Given the description of an element on the screen output the (x, y) to click on. 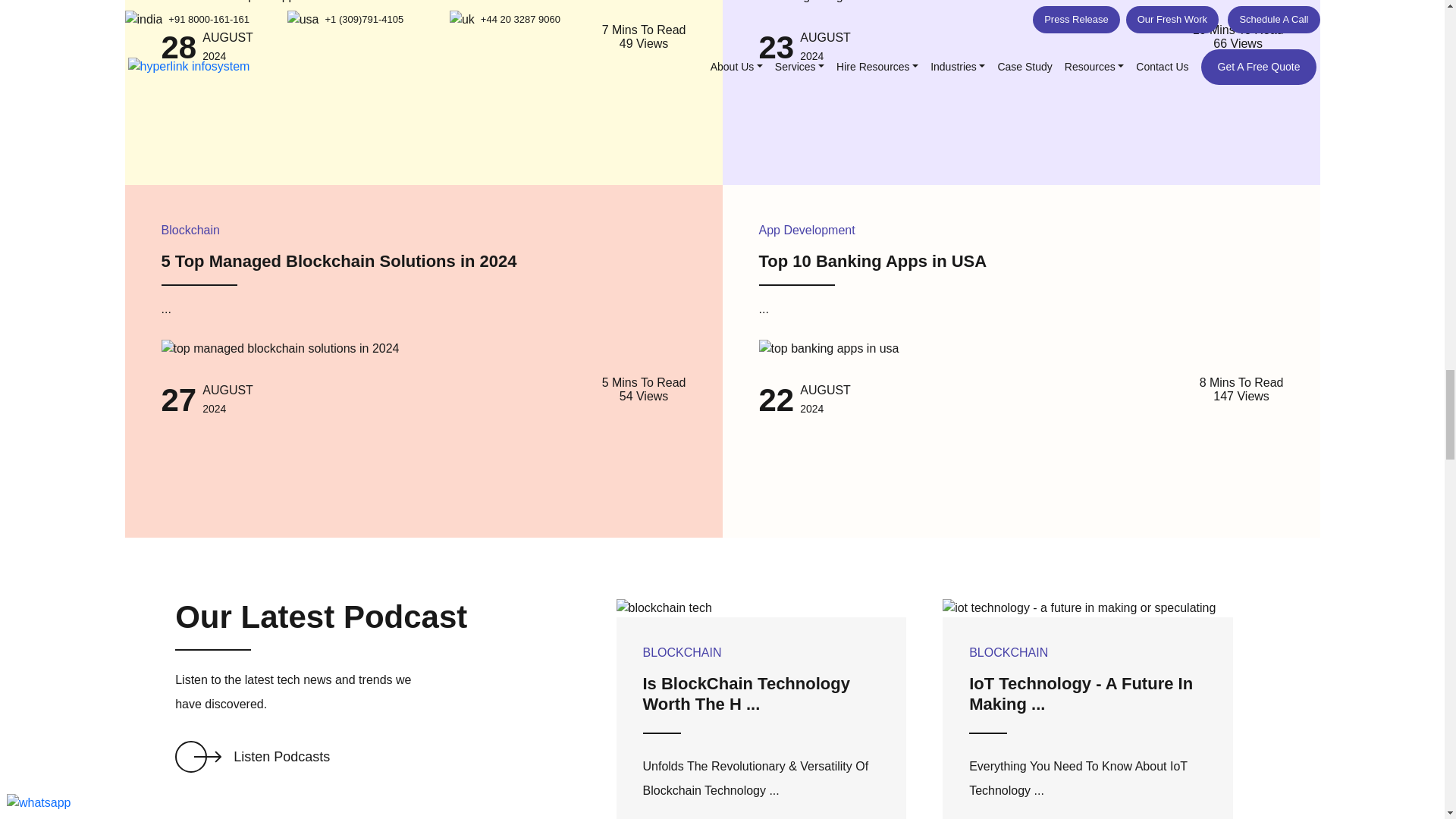
Top Managed Blockchain Solutions in 2024 (279, 348)
Blockchain Tech (663, 607)
Cost to Develop an App Like D4D (250, 2)
Web3 Gaming (800, 2)
Top Banking Apps in USA (828, 348)
IoT Technology - A Future In Making OR Speculating (1078, 607)
